Given the description of an element on the screen output the (x, y) to click on. 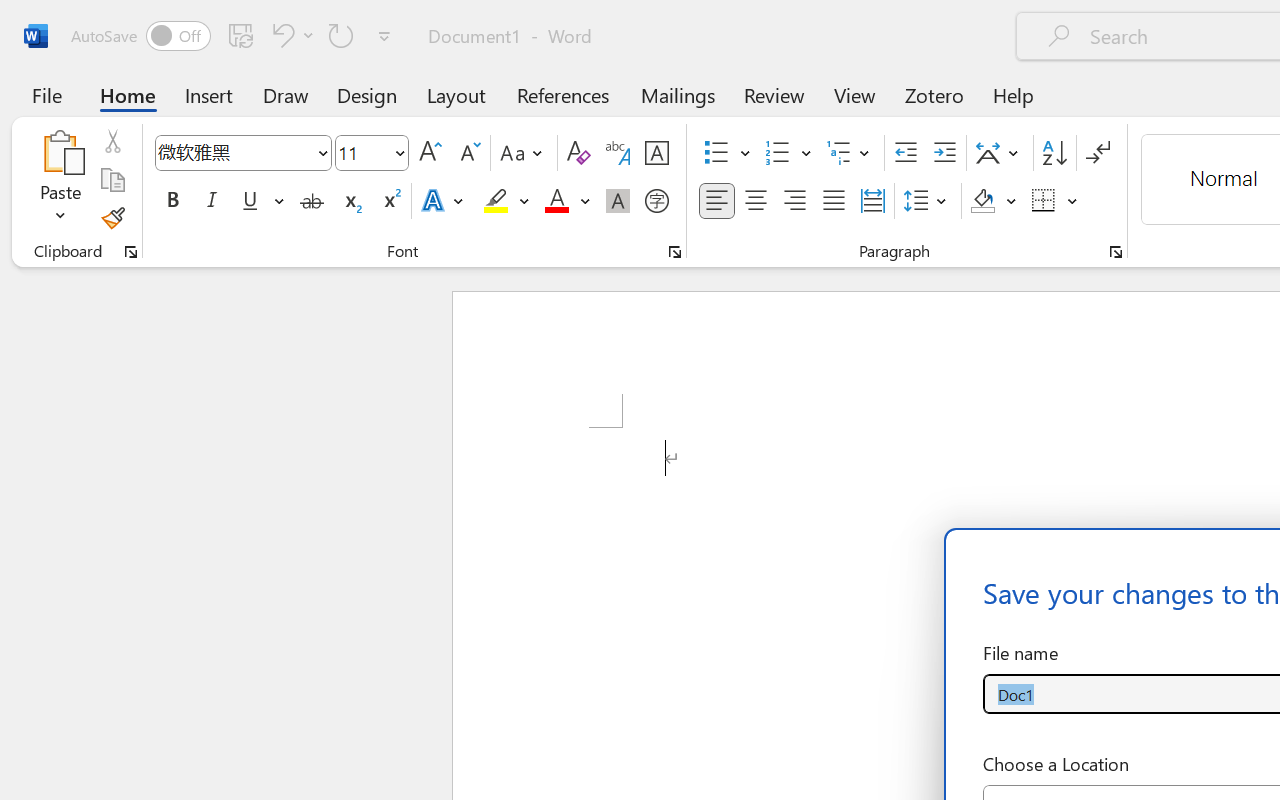
Undo <ApplyStyleToDoc>b__0 (280, 35)
Undo <ApplyStyleToDoc>b__0 (290, 35)
